Given the description of an element on the screen output the (x, y) to click on. 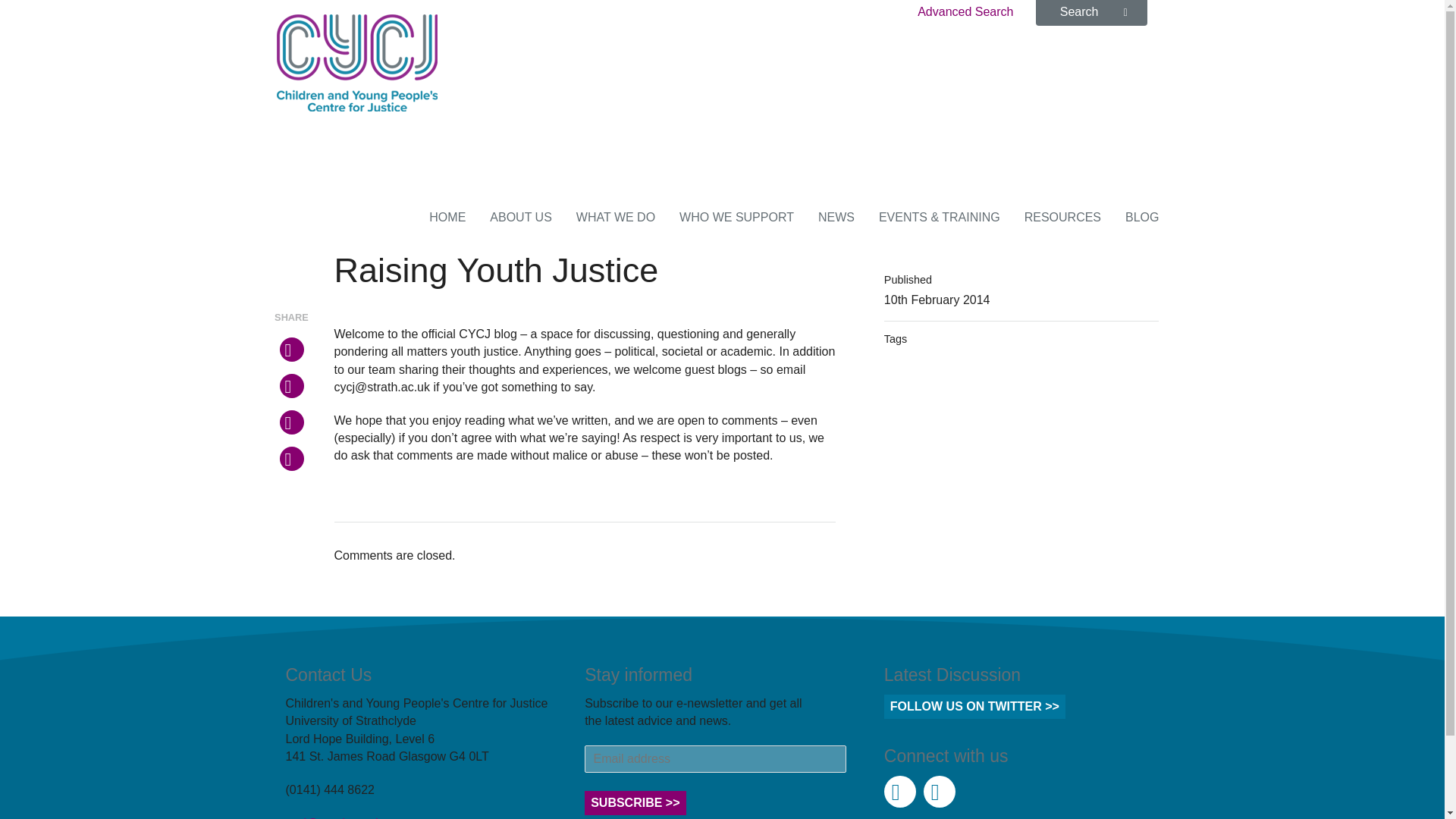
Share this on Facebook (290, 385)
NEWS (836, 217)
ABOUT US (520, 217)
Visit the CYCJ Facebook page (939, 791)
WHAT WE DO (615, 217)
Follow CYCJScotland on Twitter (899, 791)
HOME (447, 217)
RESOURCES (1062, 217)
Share this on Linkedin (290, 458)
Advanced Search (965, 12)
Share this on Twitter (290, 349)
WHO WE SUPPORT (736, 217)
BLOG (1141, 217)
